Given the description of an element on the screen output the (x, y) to click on. 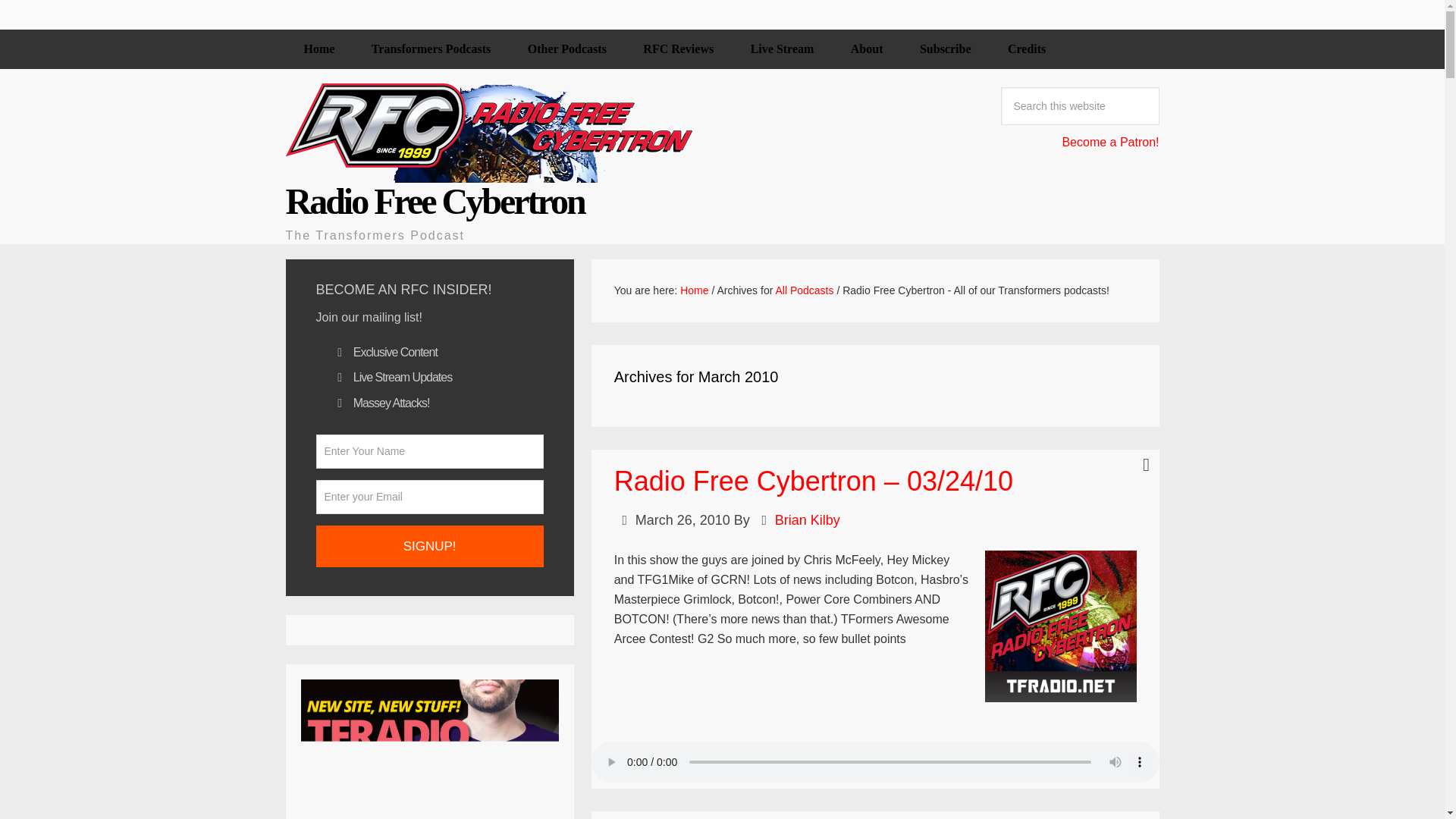
Enter your Email (429, 496)
About (866, 48)
Signup! (429, 546)
All Podcasts (803, 290)
Enter Your Name (429, 451)
Home (318, 48)
RFC Reviews (678, 48)
Other Podcasts (566, 48)
Subscribe (945, 48)
Credits (1027, 48)
